Given the description of an element on the screen output the (x, y) to click on. 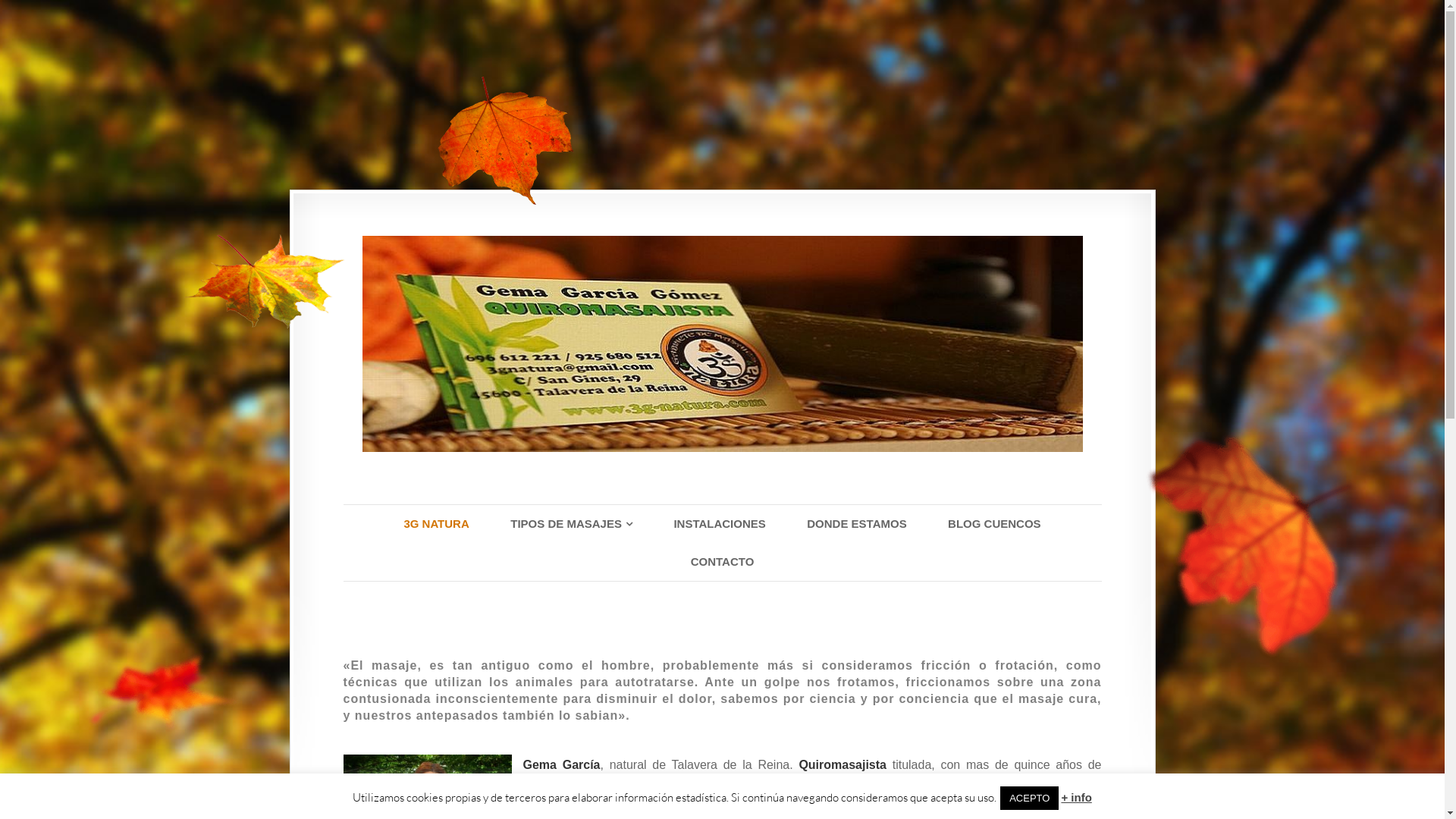
BLOG CUENCOS Element type: text (994, 523)
DONDE ESTAMOS Element type: text (856, 523)
TIPOS DE MASAJES Element type: text (571, 523)
+ info Element type: text (1075, 796)
3G NATURA Element type: text (435, 523)
ACEPTO Element type: text (1029, 797)
CONTACTO Element type: text (722, 561)
INSTALACIONES Element type: text (719, 523)
